Given the description of an element on the screen output the (x, y) to click on. 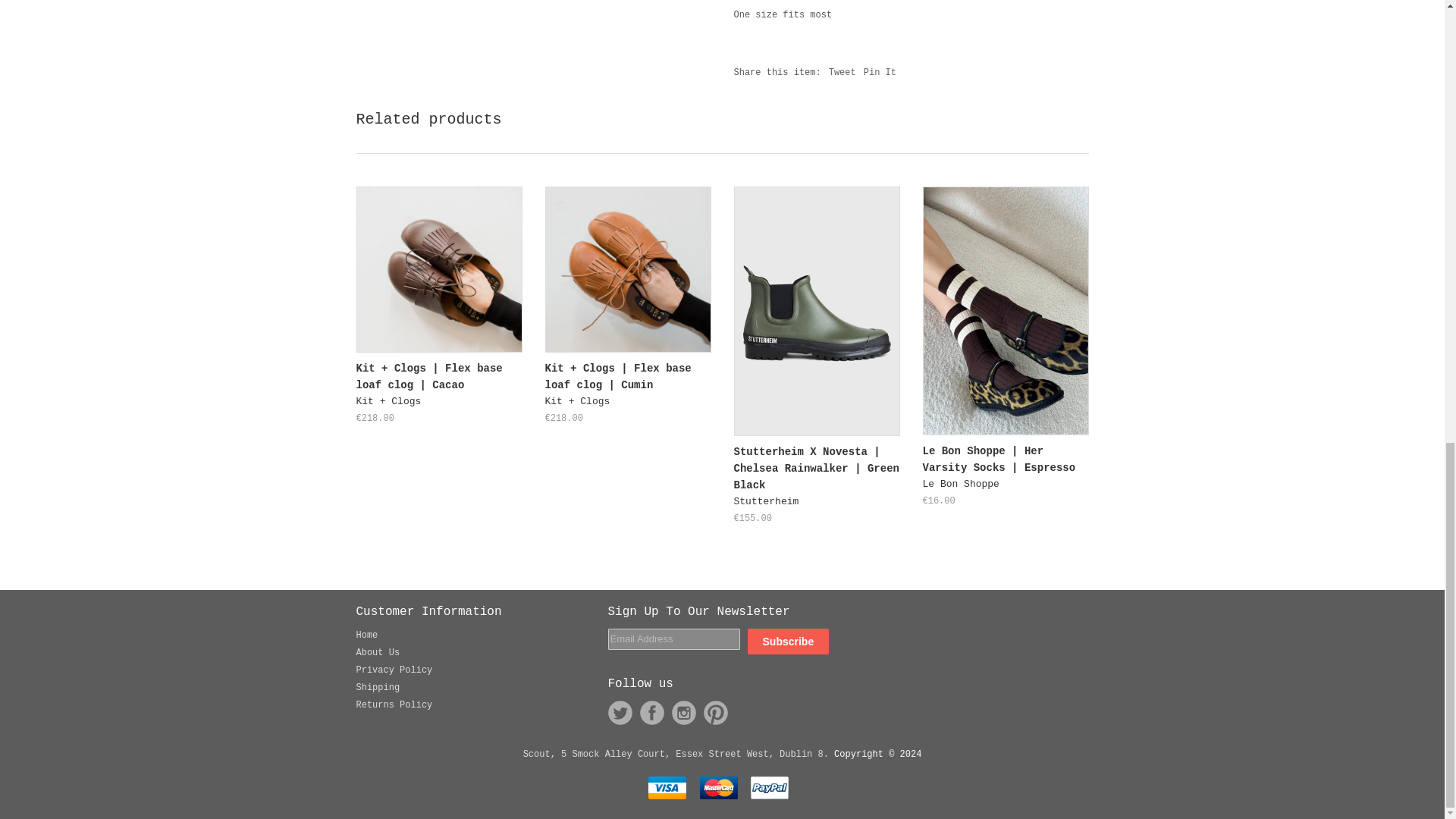
Scout Dublin on Twitter (619, 712)
Returns Policy (394, 705)
Scout Dublin on Facebook (651, 712)
Pin It (879, 72)
Privacy Policy (394, 670)
Tweet (842, 72)
Scout Dublin on Pinterest (715, 712)
Home (367, 634)
About  Us (378, 652)
Scout Dublin on Instagram (683, 712)
Shipping  (378, 687)
Subscribe (788, 641)
